Given the description of an element on the screen output the (x, y) to click on. 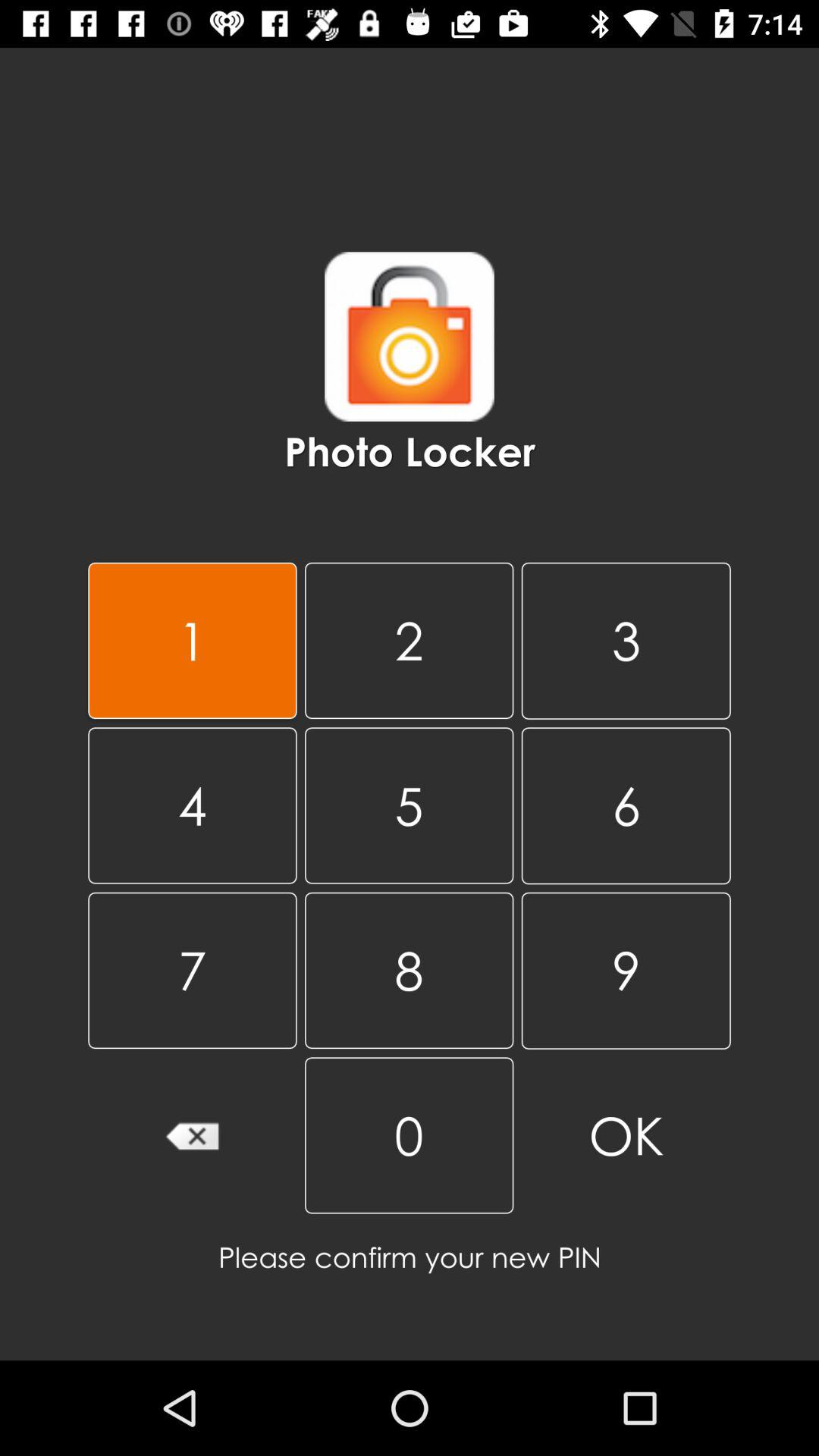
tap ok (625, 1135)
